Given the description of an element on the screen output the (x, y) to click on. 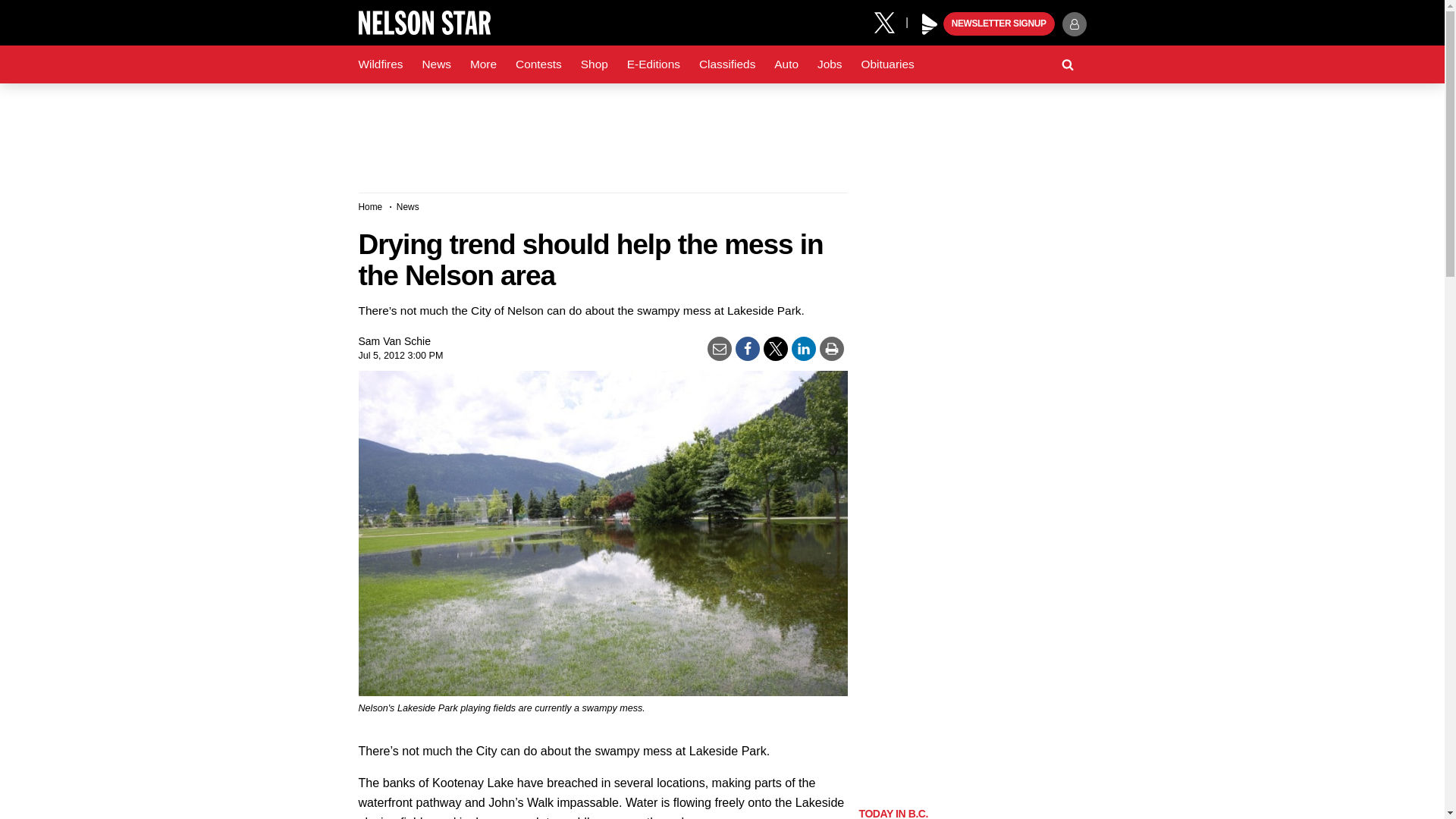
NEWSLETTER SIGNUP (998, 24)
X (889, 21)
Black Press Media (929, 24)
Play (929, 24)
Wildfires (380, 64)
News (435, 64)
